Given the description of an element on the screen output the (x, y) to click on. 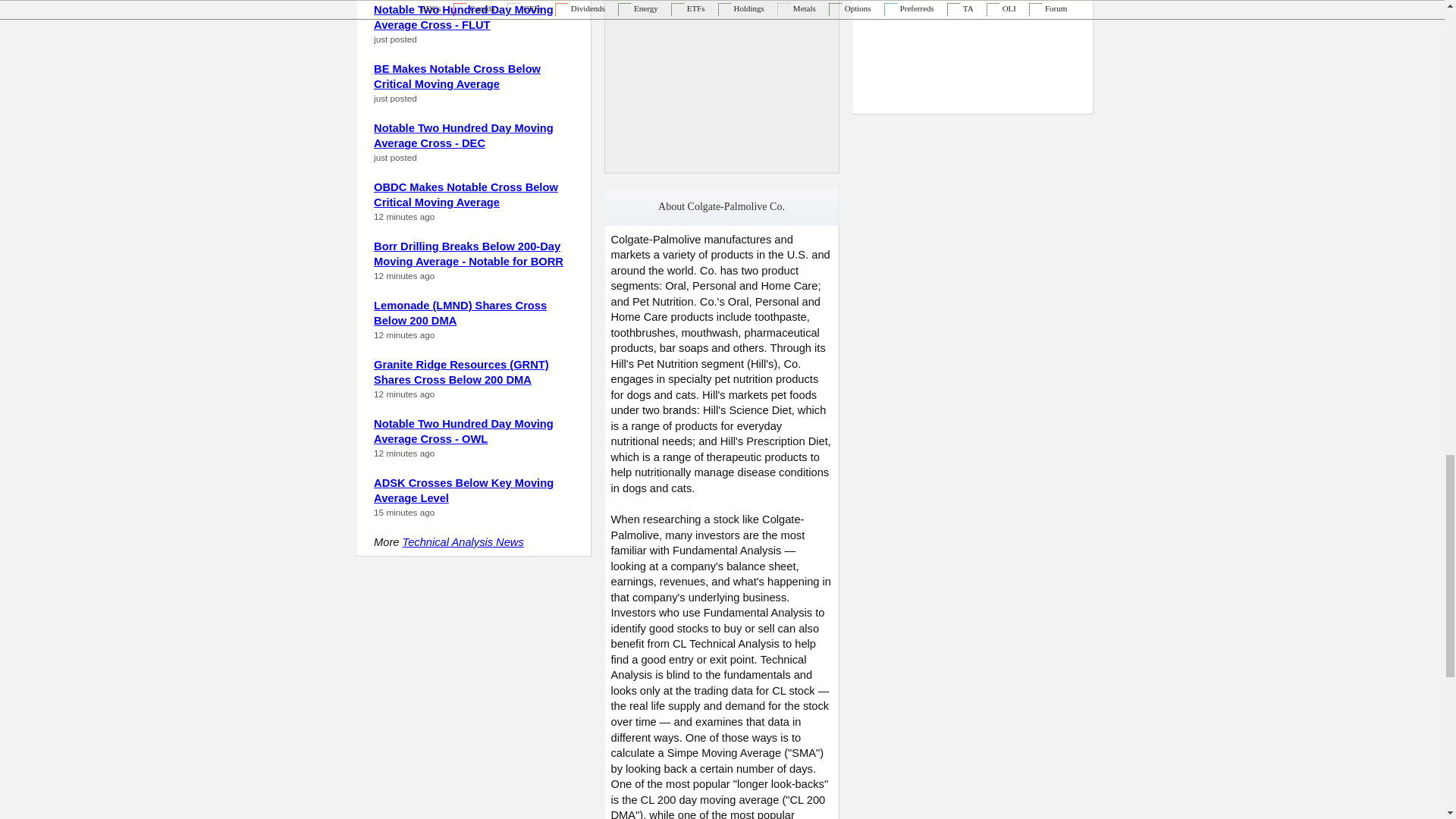
Notable Two Hundred Day Moving Average Cross - DEC (463, 135)
Technical Analysis News (463, 541)
OBDC Makes Notable Cross Below Critical Moving Average (465, 194)
Notable Two Hundred Day Moving Average Cross - FLUT (463, 17)
Notable Two Hundred Day Moving Average Cross - OWL (463, 431)
BE Makes Notable Cross Below Critical Moving Average (457, 76)
ADSK Crosses Below Key Moving Average Level (463, 490)
